Given the description of an element on the screen output the (x, y) to click on. 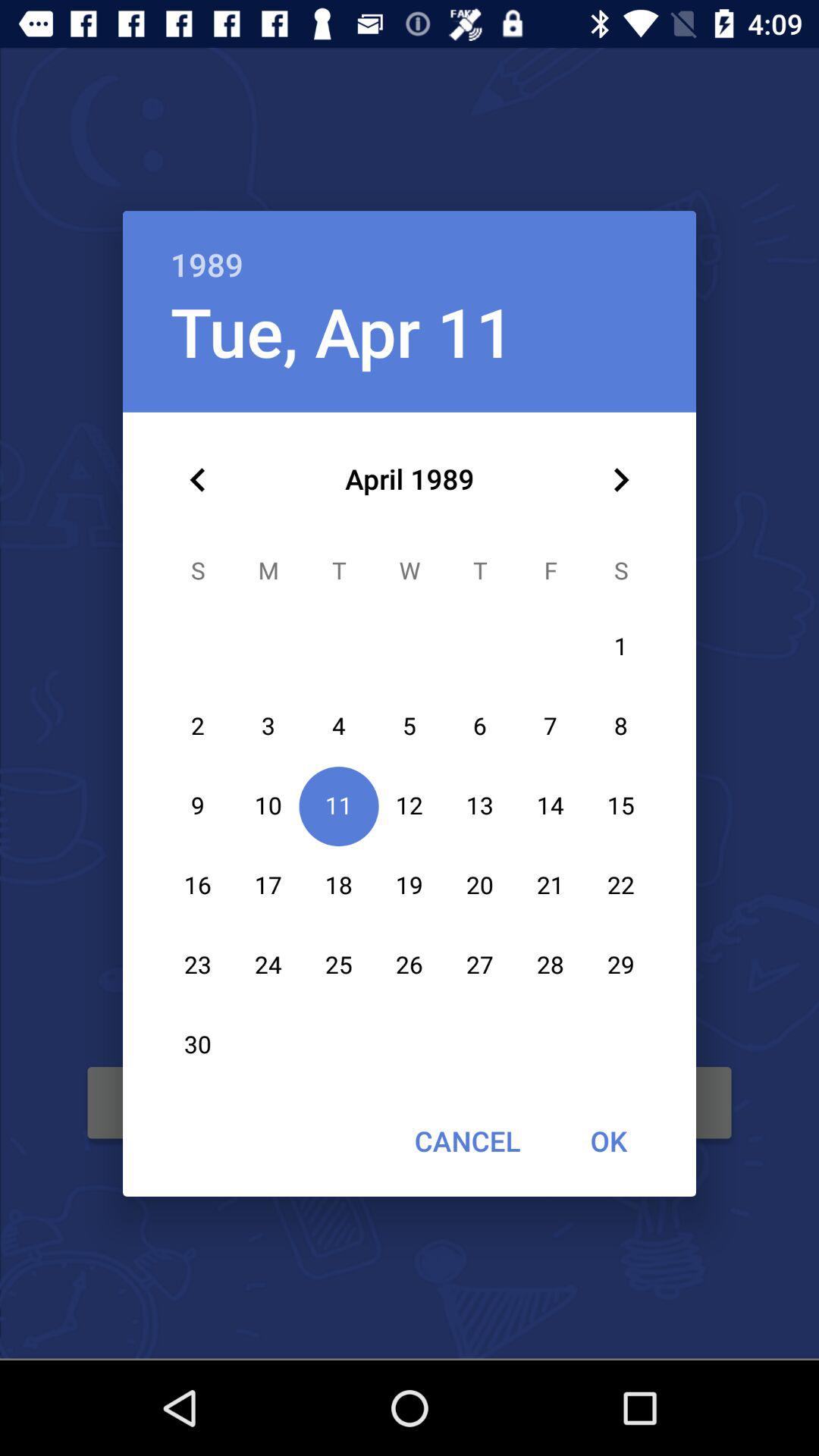
jump until the tue, apr 11 (342, 331)
